Given the description of an element on the screen output the (x, y) to click on. 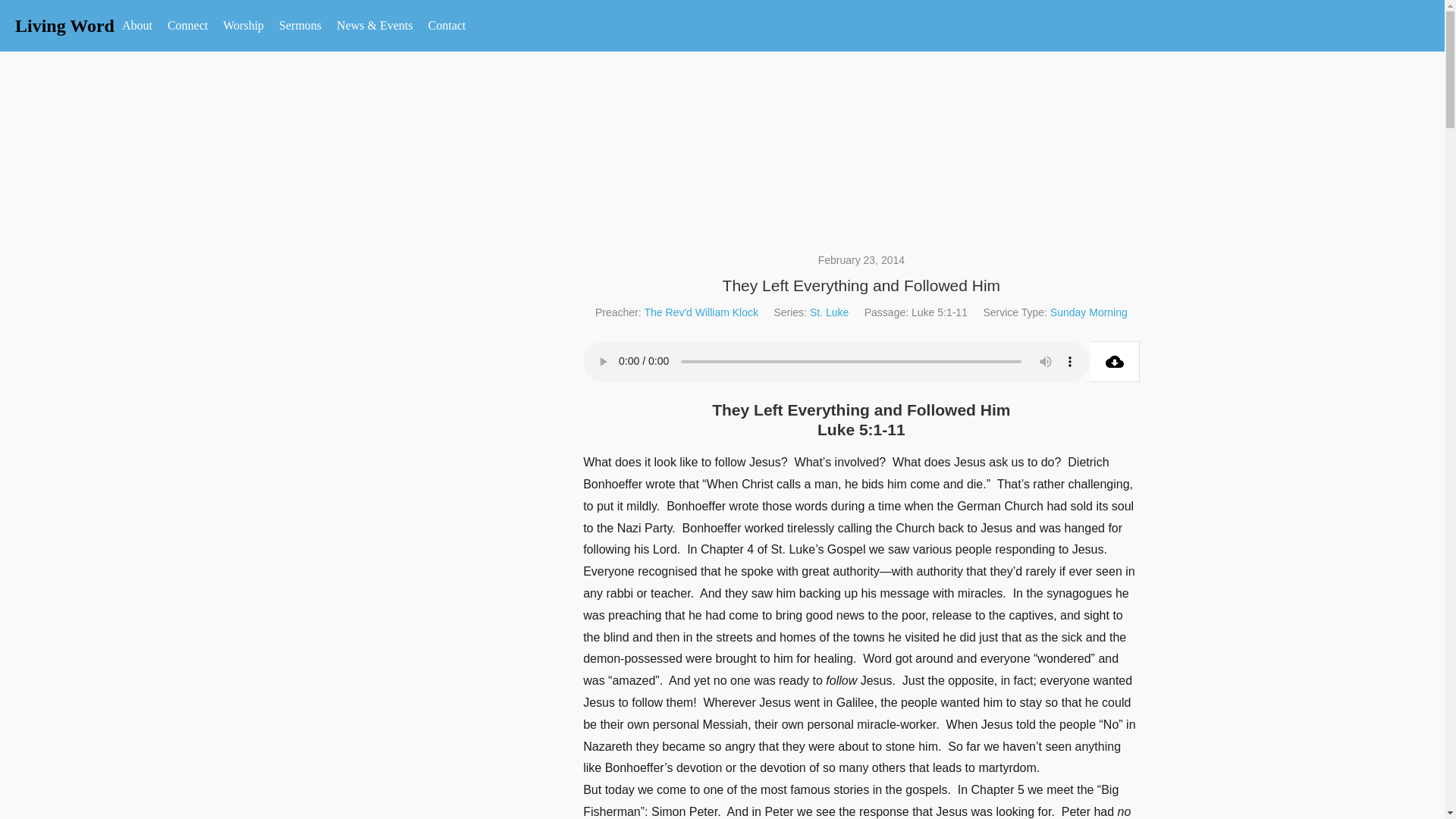
About (137, 25)
Sermons (299, 25)
Download Audio File (1115, 361)
Worship (242, 25)
St. Luke (828, 312)
Connect (187, 25)
Contact (447, 25)
Sunday Morning (1087, 312)
Living Word (64, 25)
The Rev'd William Klock (700, 312)
